Given the description of an element on the screen output the (x, y) to click on. 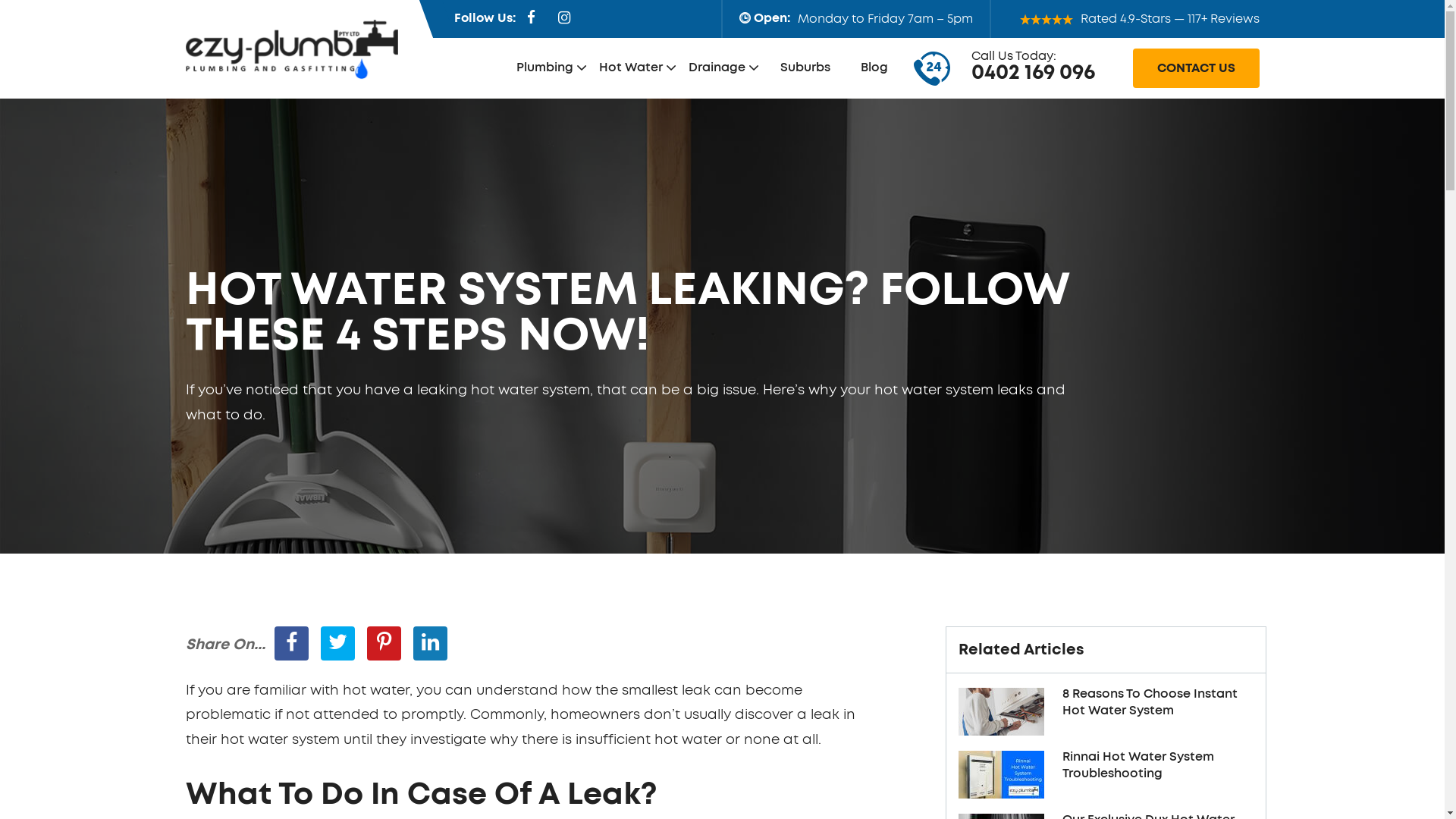
8 Reasons To Choose Instant Hot Water System Element type: text (1157, 704)
Plumbing Element type: text (550, 67)
Share on LinkedIn Element type: hover (429, 643)
Rinnai Hot Water System Troubleshooting Element type: text (1157, 767)
8 Reasons To Choose Instant Hot Water System Element type: hover (1001, 709)
Rinnai Hot Water System Troubleshooting Element type: hover (1001, 774)
Blog Element type: text (873, 67)
Rinnai Hot Water System Troubleshooting Element type: hover (1001, 772)
Suburbs Element type: text (804, 67)
0402 169 096 Element type: text (1032, 72)
Share on Pinterest Element type: hover (384, 643)
CONTACT US Element type: text (1195, 67)
Instagram Element type: hover (563, 18)
Hot Water Element type: text (637, 67)
8 Reasons To Choose Instant Hot Water System Element type: hover (1001, 711)
Drainage Element type: text (723, 67)
Share on Facebook Element type: hover (291, 643)
Share on Twitter Element type: hover (337, 643)
Facebook Element type: hover (530, 18)
